Given the description of an element on the screen output the (x, y) to click on. 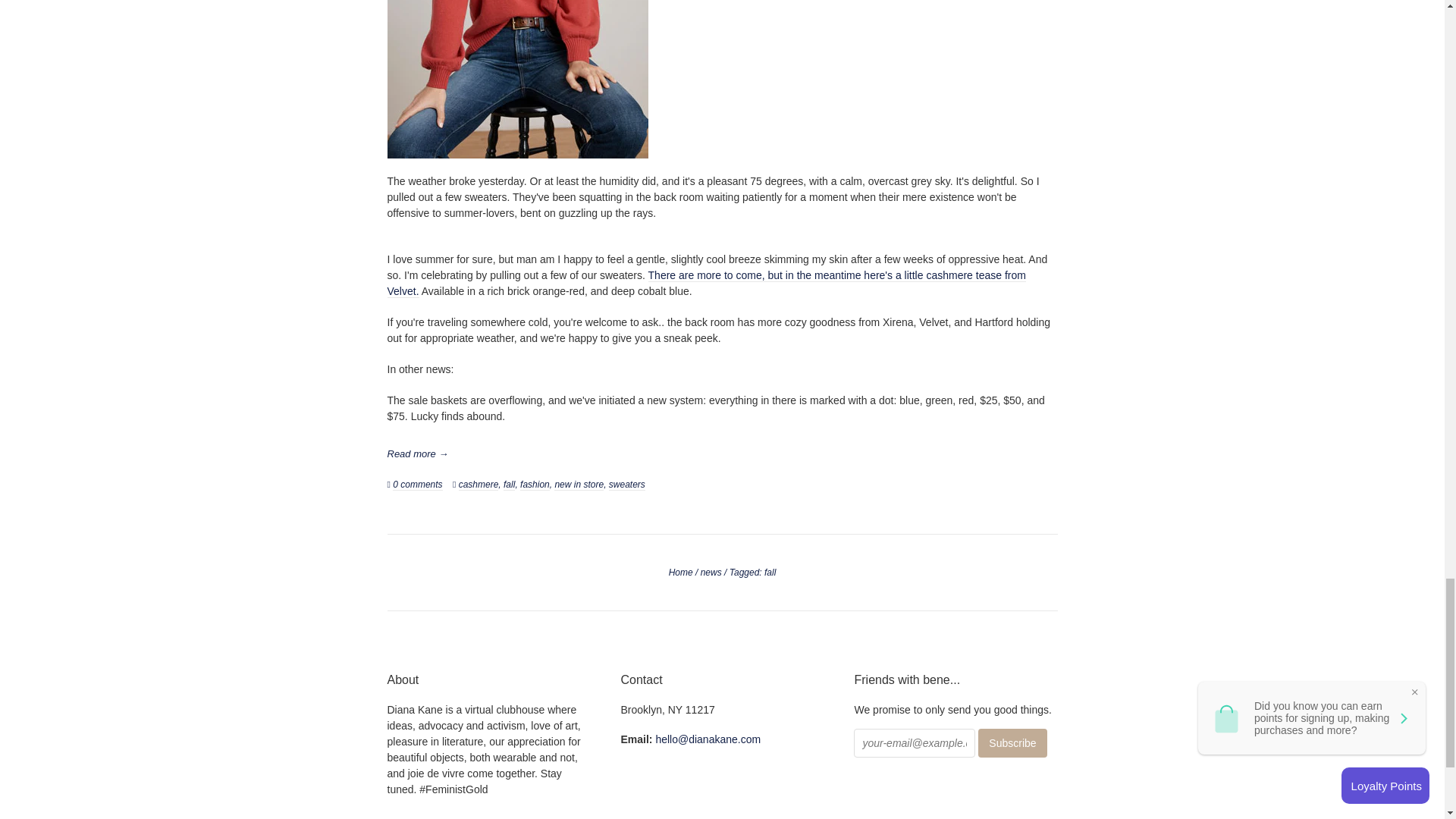
Subscribe (1012, 742)
